Given the description of an element on the screen output the (x, y) to click on. 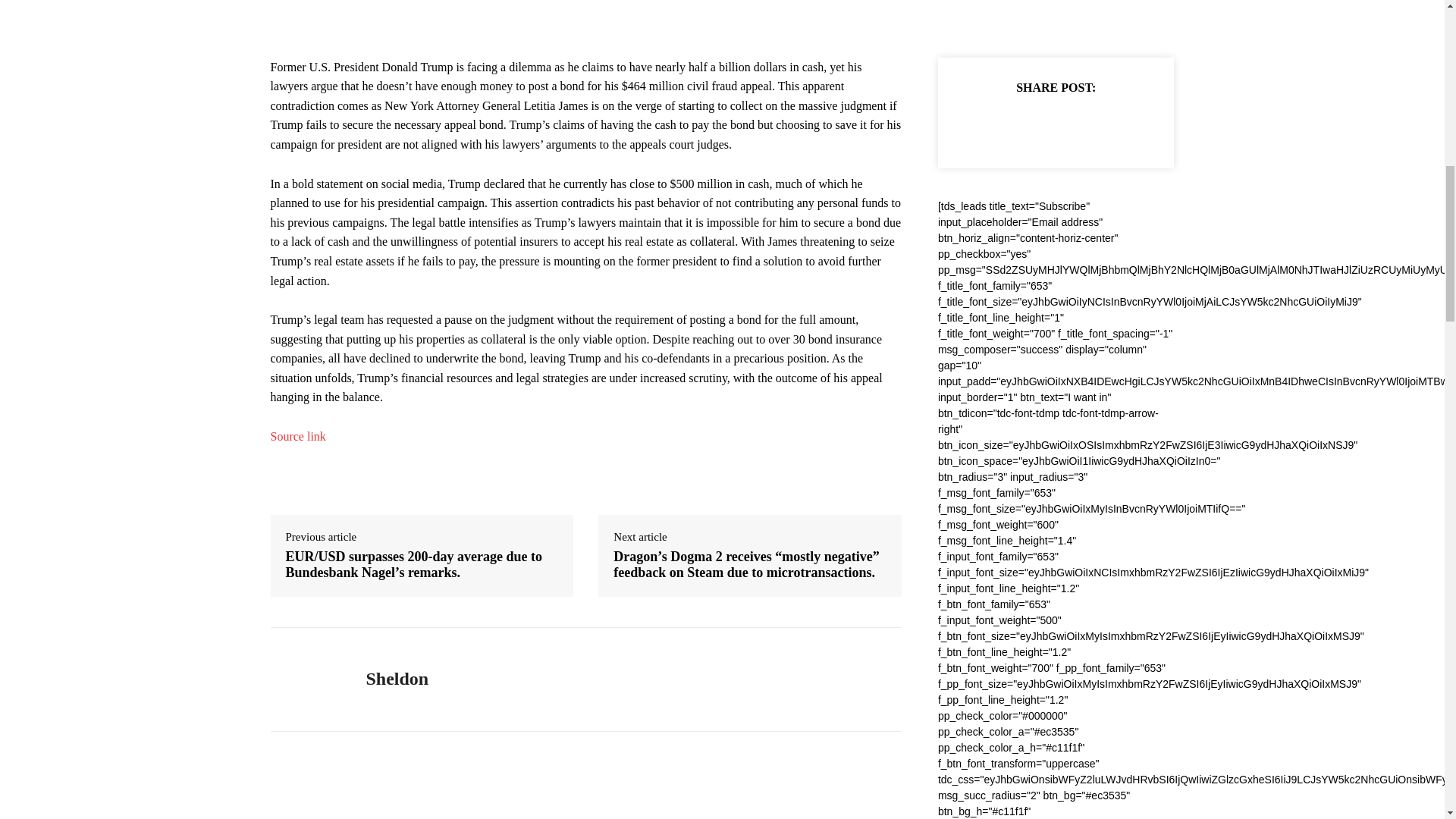
Sheldon (396, 679)
Sheldon (305, 678)
Source link (296, 436)
